Given the description of an element on the screen output the (x, y) to click on. 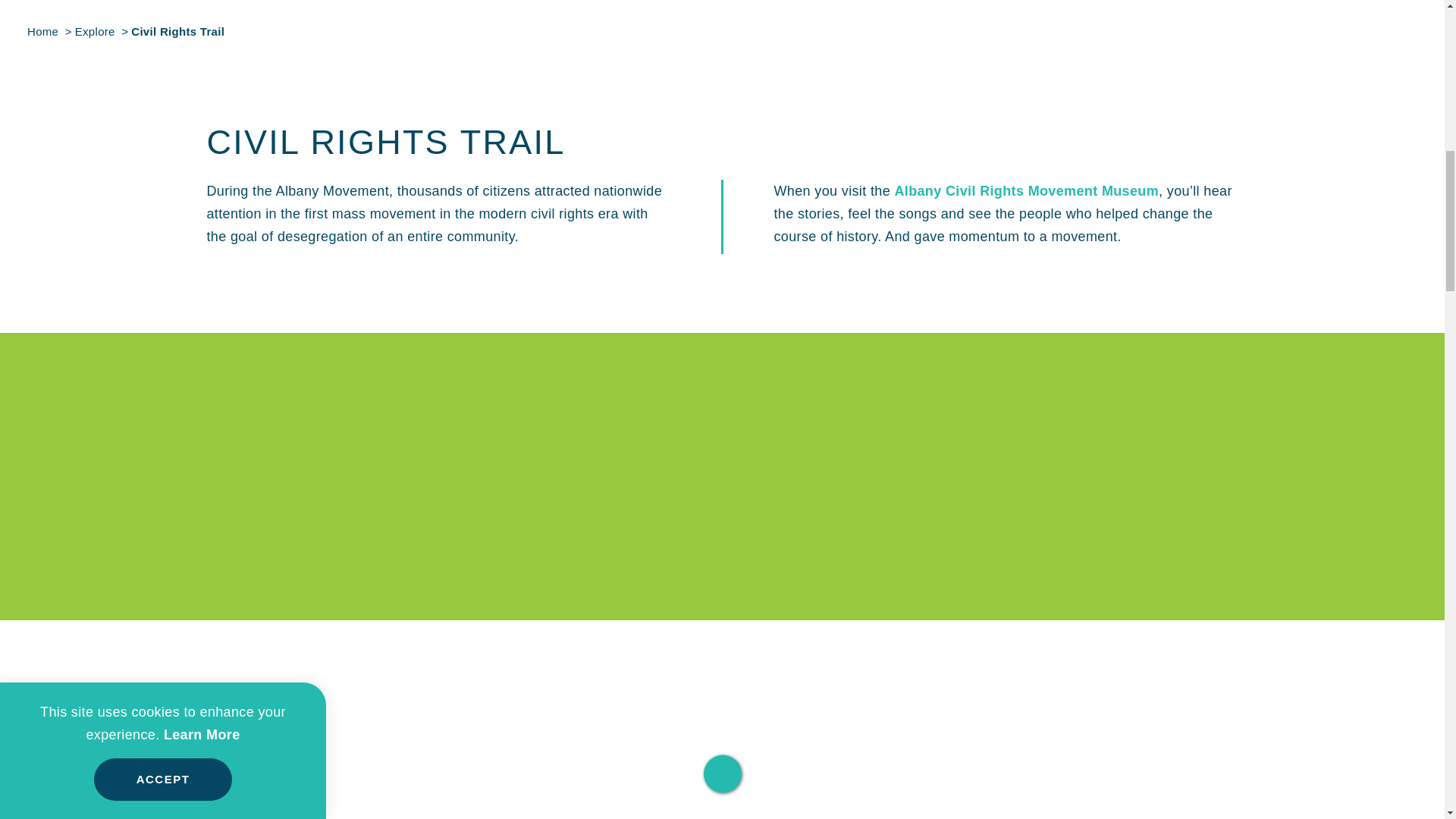
Home (42, 31)
Albany Civil Rights Movement Museum (1025, 191)
Explore (94, 31)
